Given the description of an element on the screen output the (x, y) to click on. 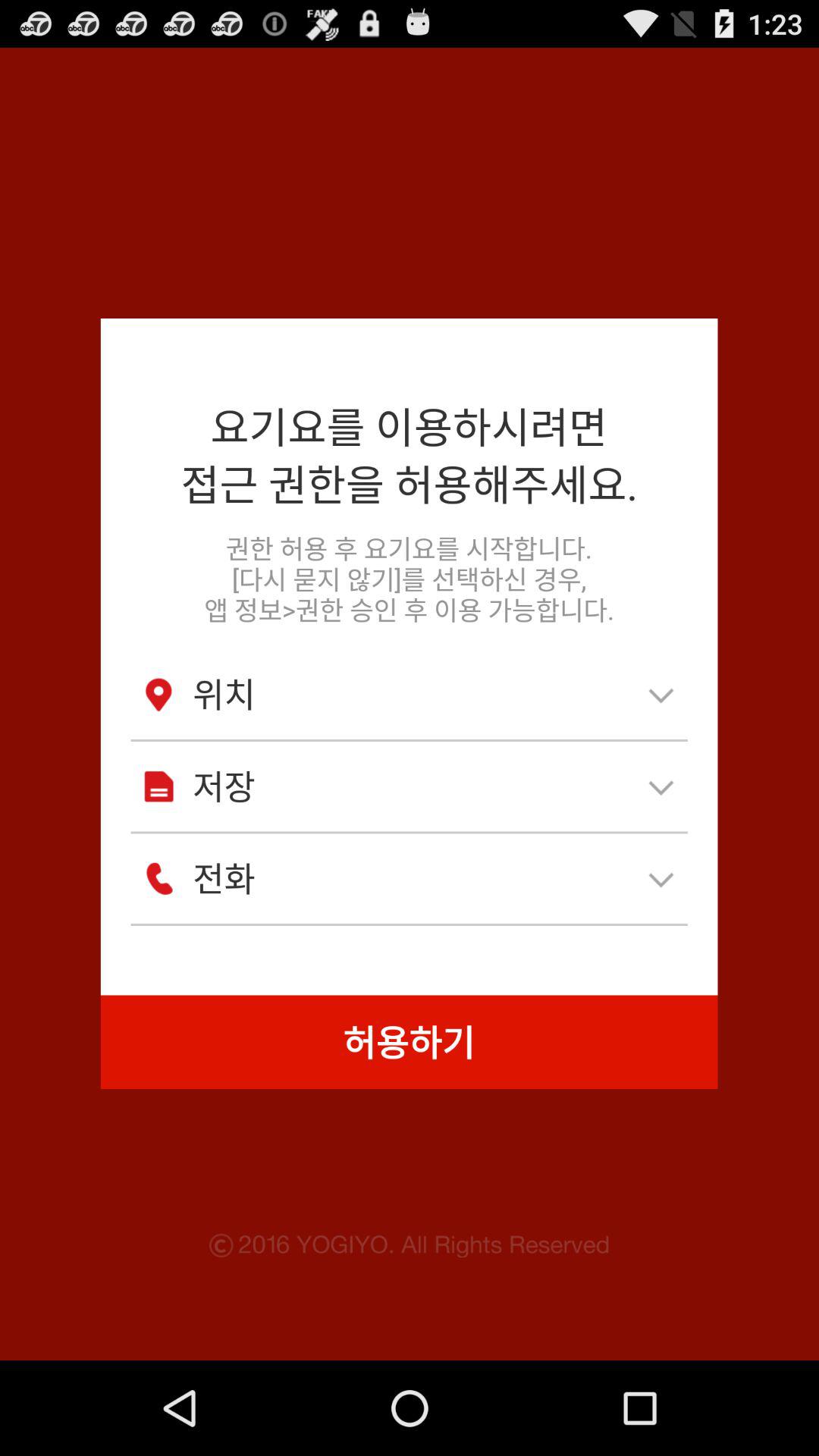
click on call icon (158, 878)
click on document icon (158, 785)
click on the red colored button at the bottom of the page (409, 1042)
